Given the description of an element on the screen output the (x, y) to click on. 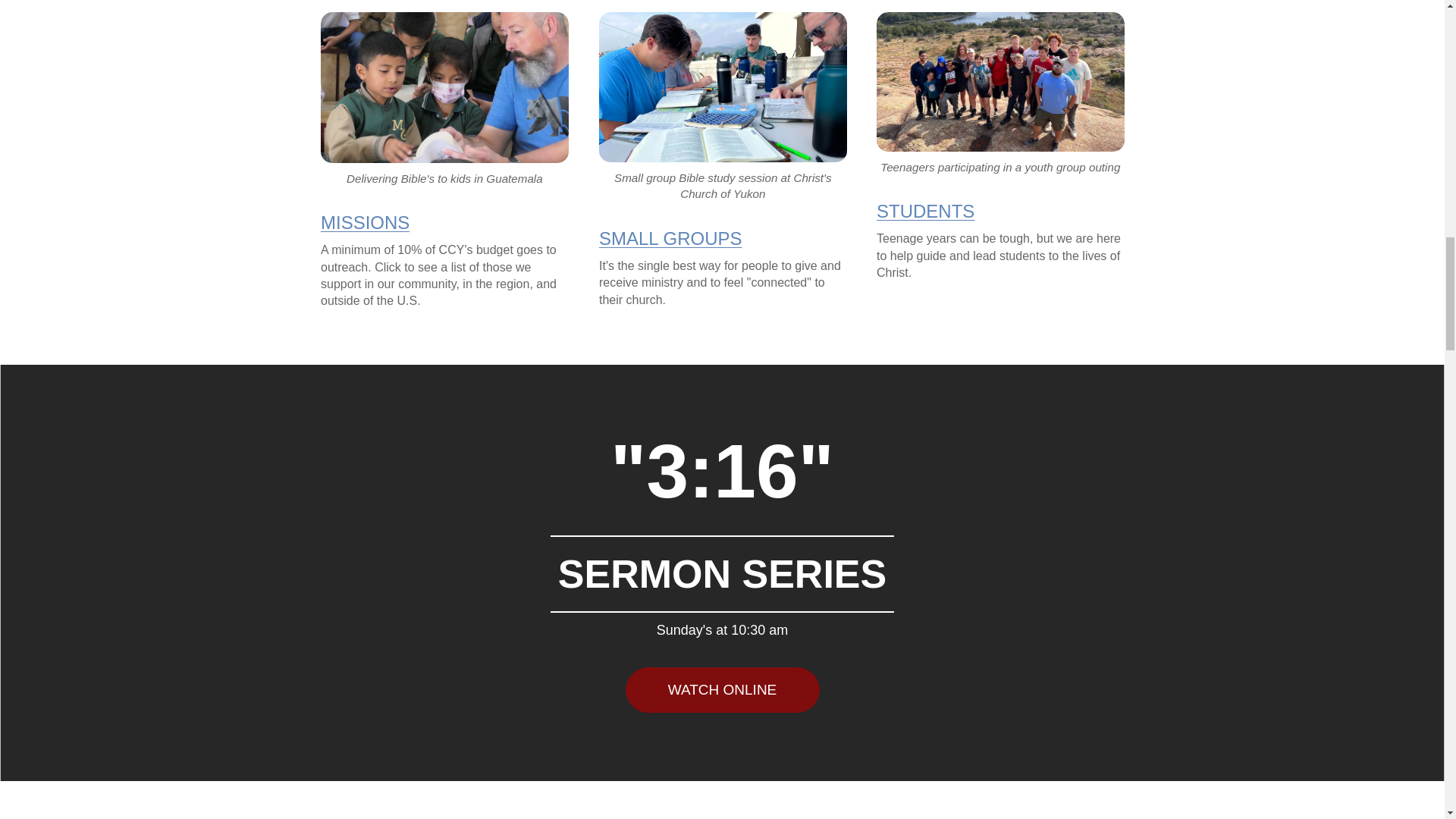
Delivering Bible's to kids in Guatemala (443, 99)
Teenagers participating in a youth group outing (1000, 93)
Small group Bible study session at Christ's Church of Yukon (721, 107)
